Given the description of an element on the screen output the (x, y) to click on. 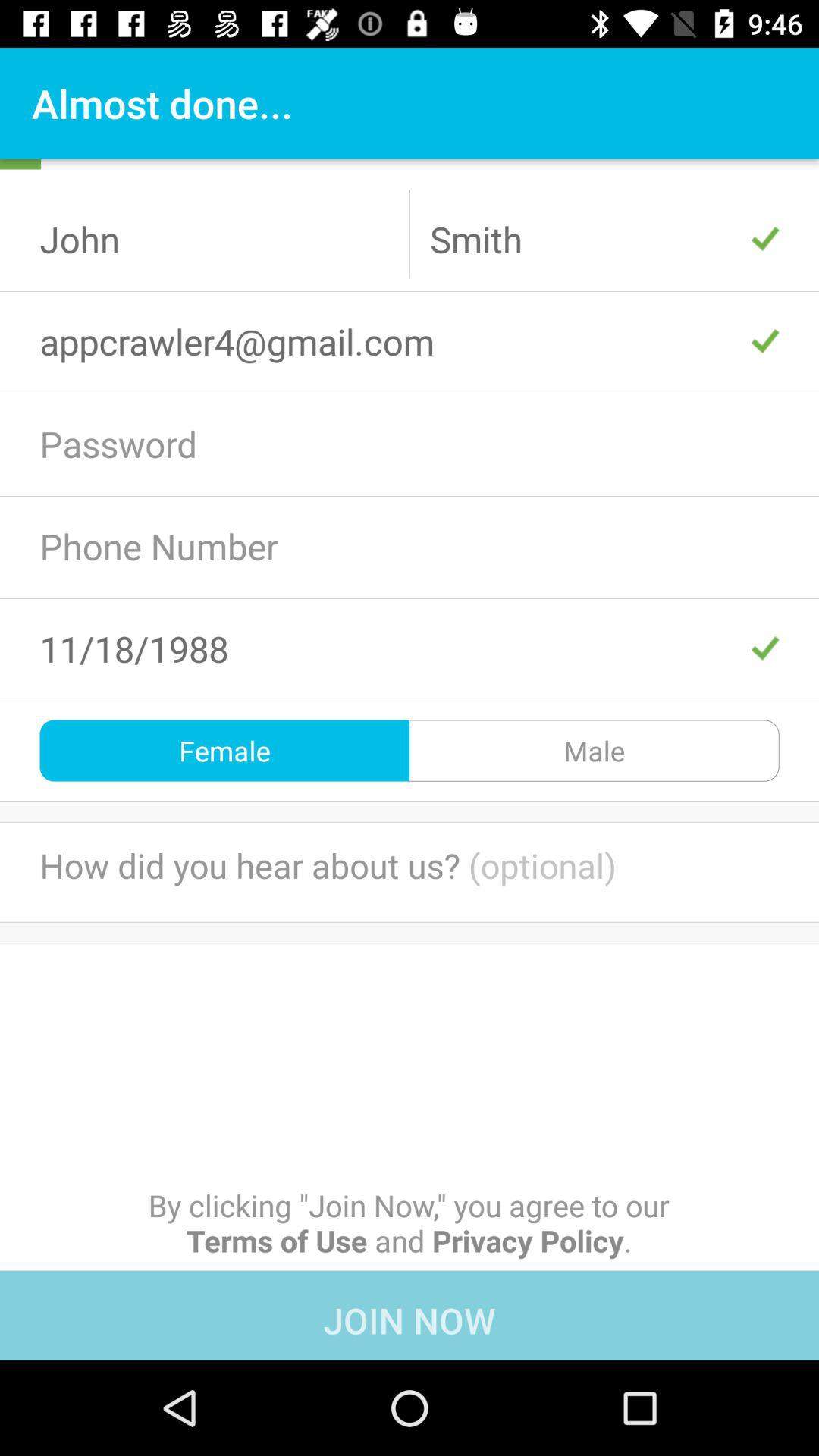
turn off item to the right of the john (604, 239)
